Given the description of an element on the screen output the (x, y) to click on. 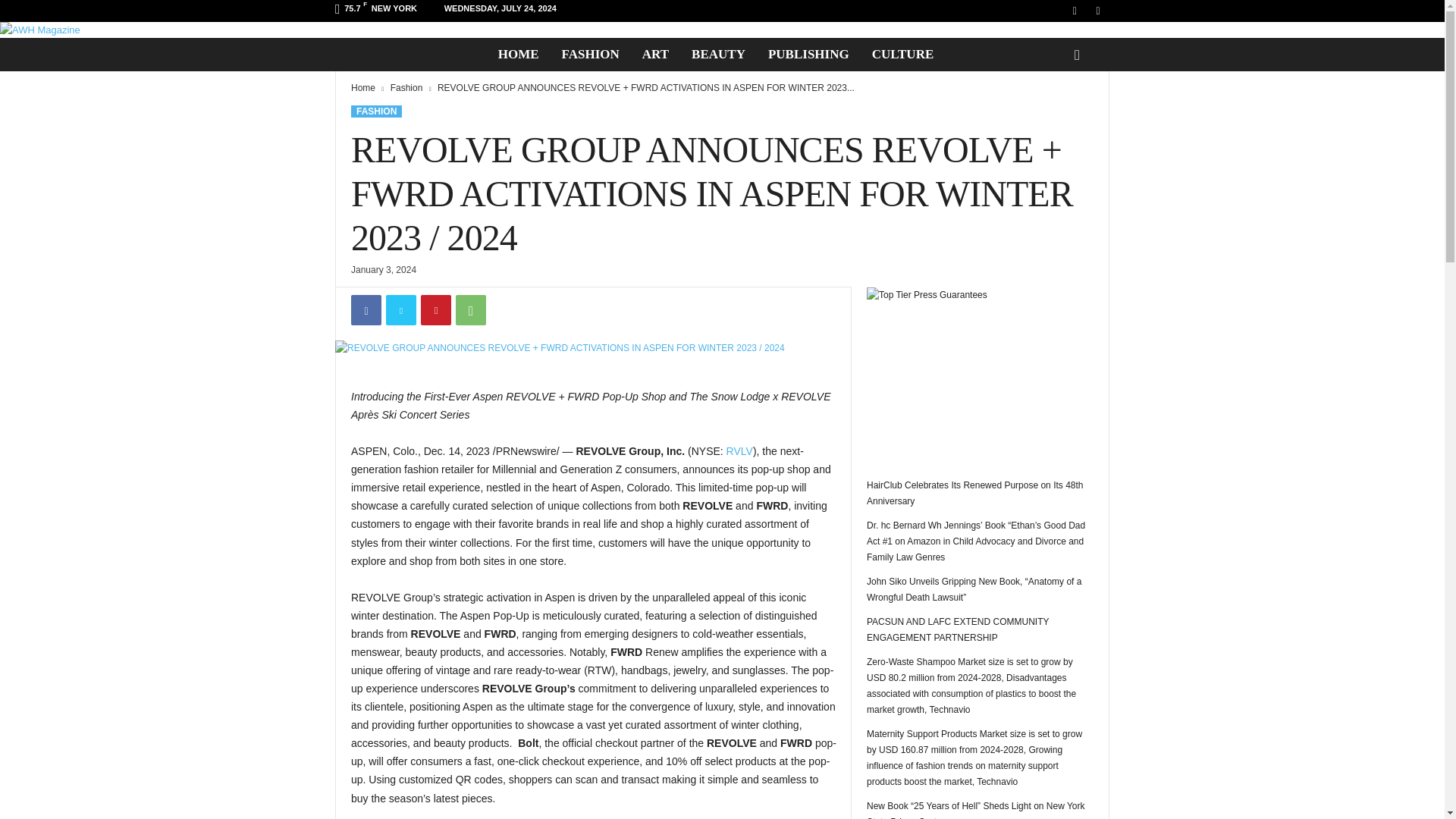
Twitter (400, 309)
Home (362, 87)
View all posts in Fashion (406, 87)
RVLV (739, 451)
Pinterest (435, 309)
Facebook (365, 309)
PUBLISHING (808, 54)
BEAUTY (718, 54)
Fashion (406, 87)
FASHION (375, 111)
ART (654, 54)
FASHION (590, 54)
CULTURE (902, 54)
HOME (518, 54)
WhatsApp (470, 309)
